Given the description of an element on the screen output the (x, y) to click on. 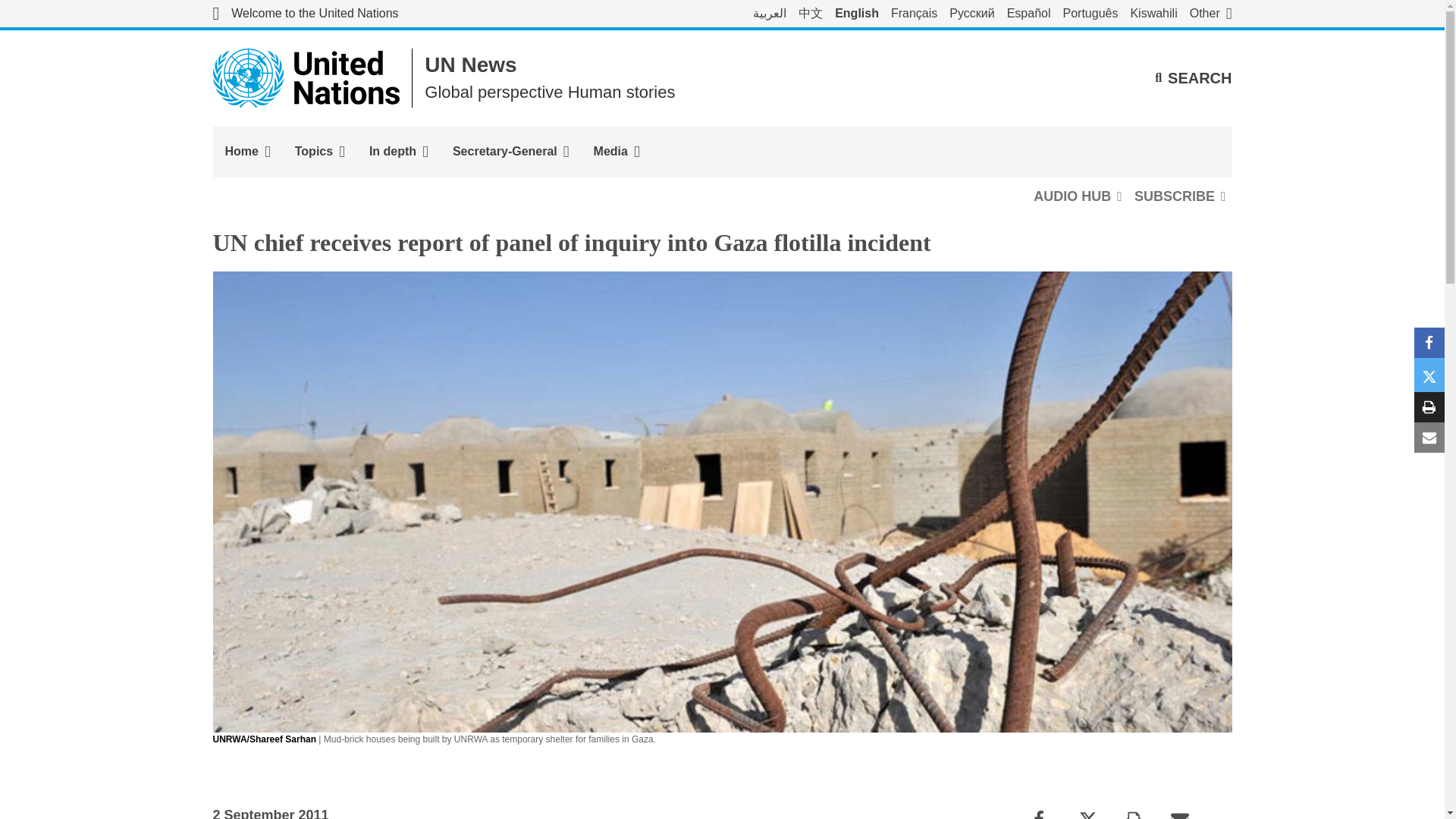
SEARCH (1192, 77)
UN News (470, 64)
English (856, 13)
United Nations (304, 13)
UN News (470, 64)
Other (1210, 13)
Topics (319, 151)
Kiswahili (1152, 13)
Welcome to the United Nations (304, 13)
Home (247, 151)
